Given the description of an element on the screen output the (x, y) to click on. 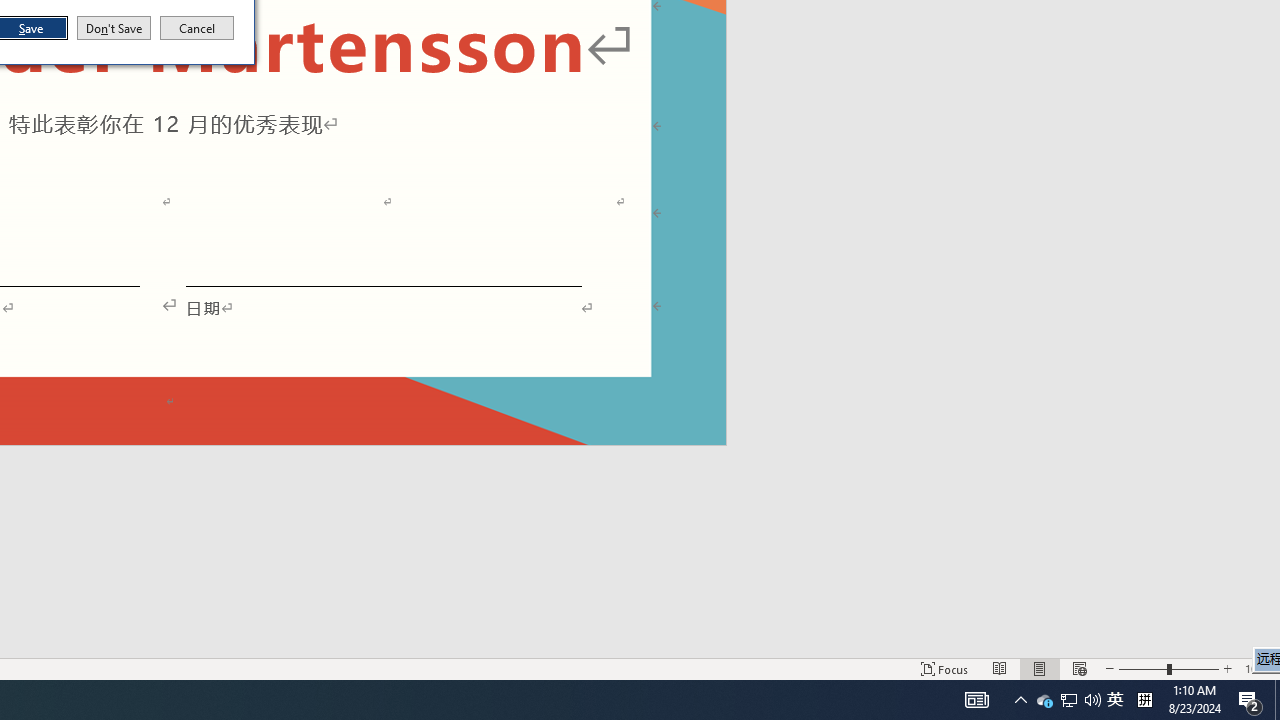
Print Layout (1039, 668)
Zoom Out (1142, 668)
Show desktop (1277, 699)
Zoom (1044, 699)
Don't Save (1168, 668)
